Given the description of an element on the screen output the (x, y) to click on. 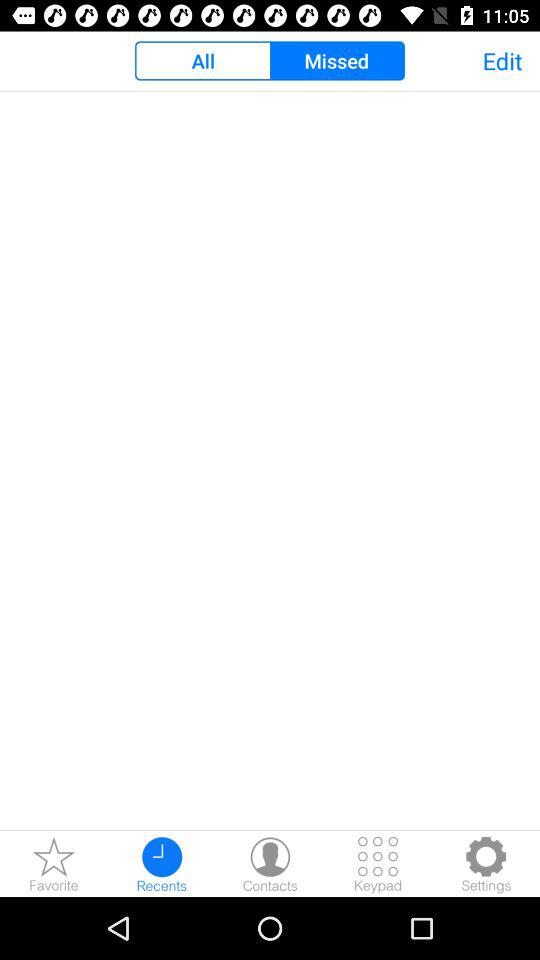
go to settings (485, 864)
